Given the description of an element on the screen output the (x, y) to click on. 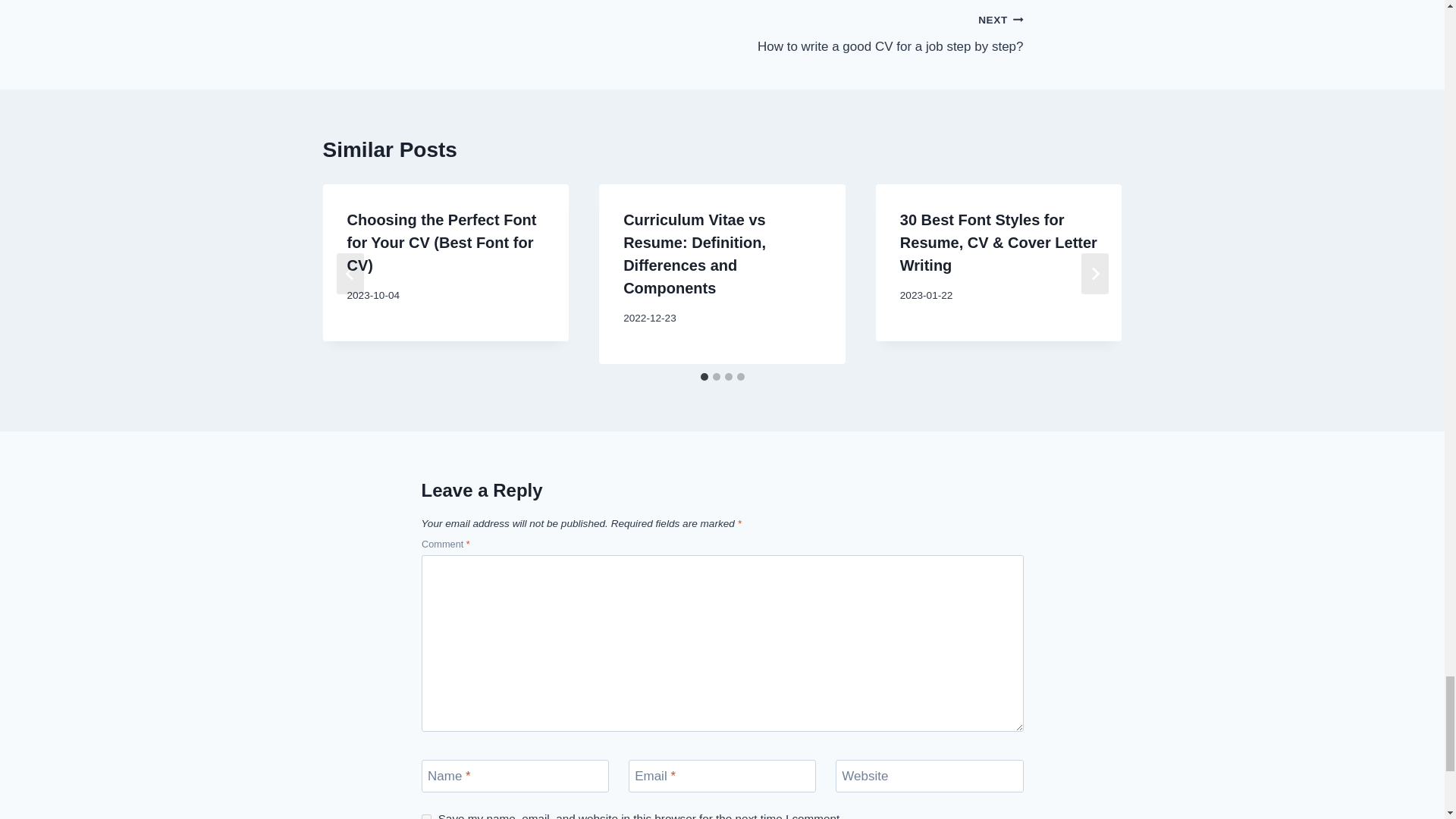
yes (872, 32)
